Given the description of an element on the screen output the (x, y) to click on. 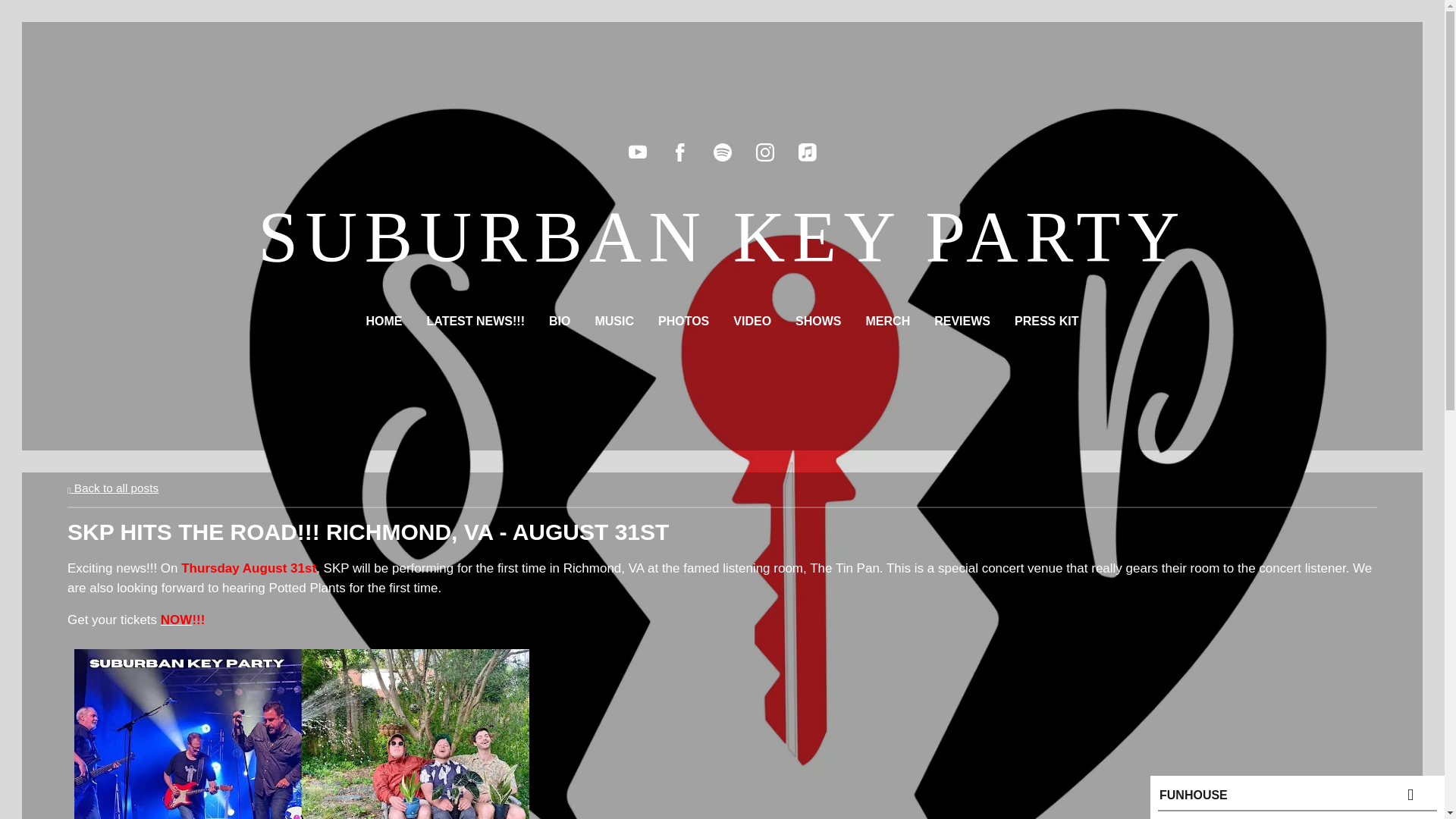
PRESS KIT (1046, 321)
NOW (176, 619)
PHOTOS (683, 321)
LATEST NEWS!!! (475, 321)
SHOWS (817, 321)
VIDEO (752, 321)
REVIEWS (962, 321)
MERCH (888, 321)
HOME (384, 321)
Back to all posts (112, 487)
